Given the description of an element on the screen output the (x, y) to click on. 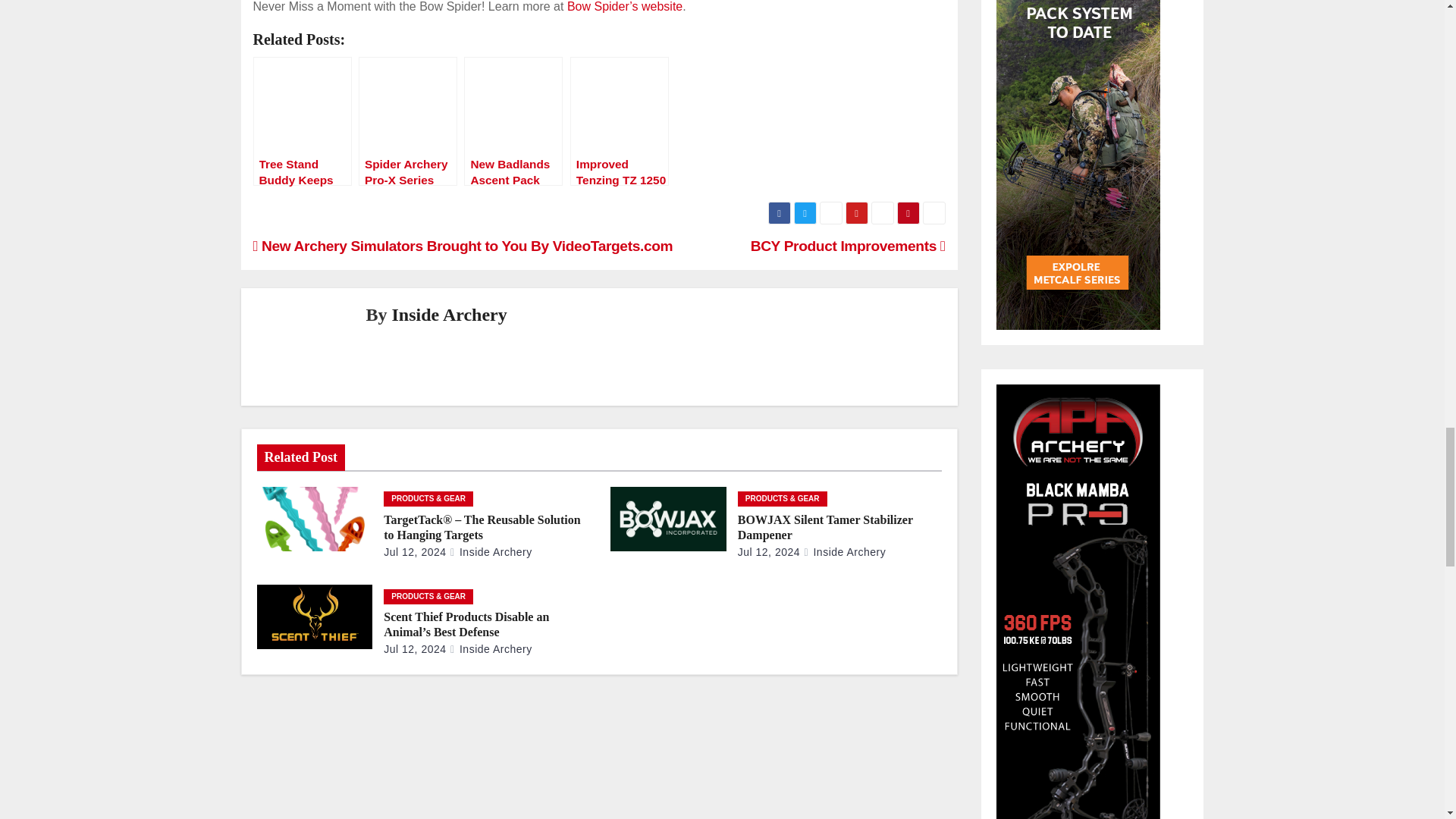
Inside Archery (490, 551)
Permalink to: BOWJAX Silent Tamer Stabilizer Dampener (825, 527)
Inside Archery (448, 314)
New Archery Simulators Brought to You By VideoTargets.com (462, 245)
BCY Product Improvements (847, 245)
Jul 12, 2024 (414, 551)
